Given the description of an element on the screen output the (x, y) to click on. 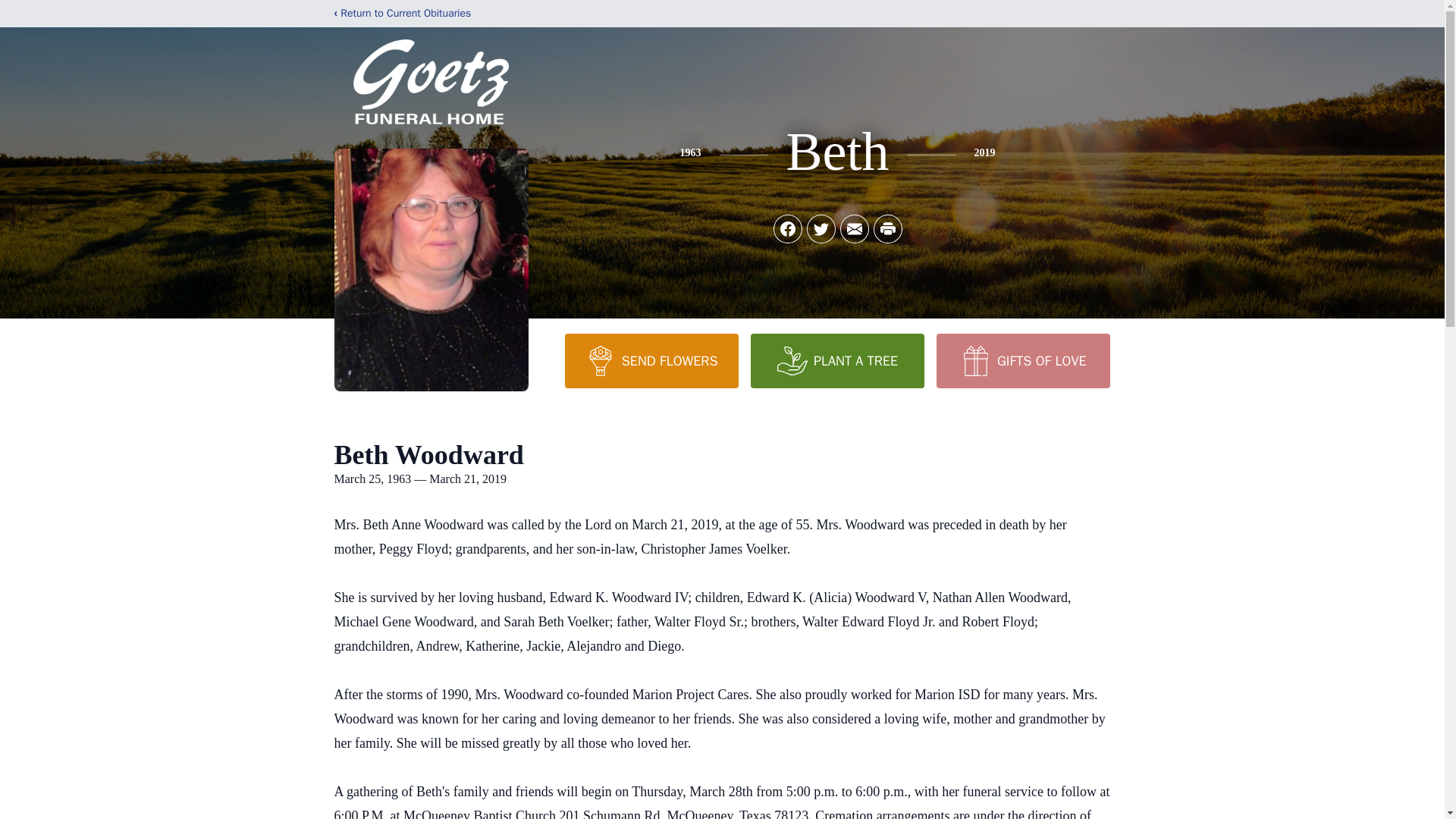
SEND FLOWERS (651, 360)
PLANT A TREE (837, 360)
GIFTS OF LOVE (1022, 360)
